Given the description of an element on the screen output the (x, y) to click on. 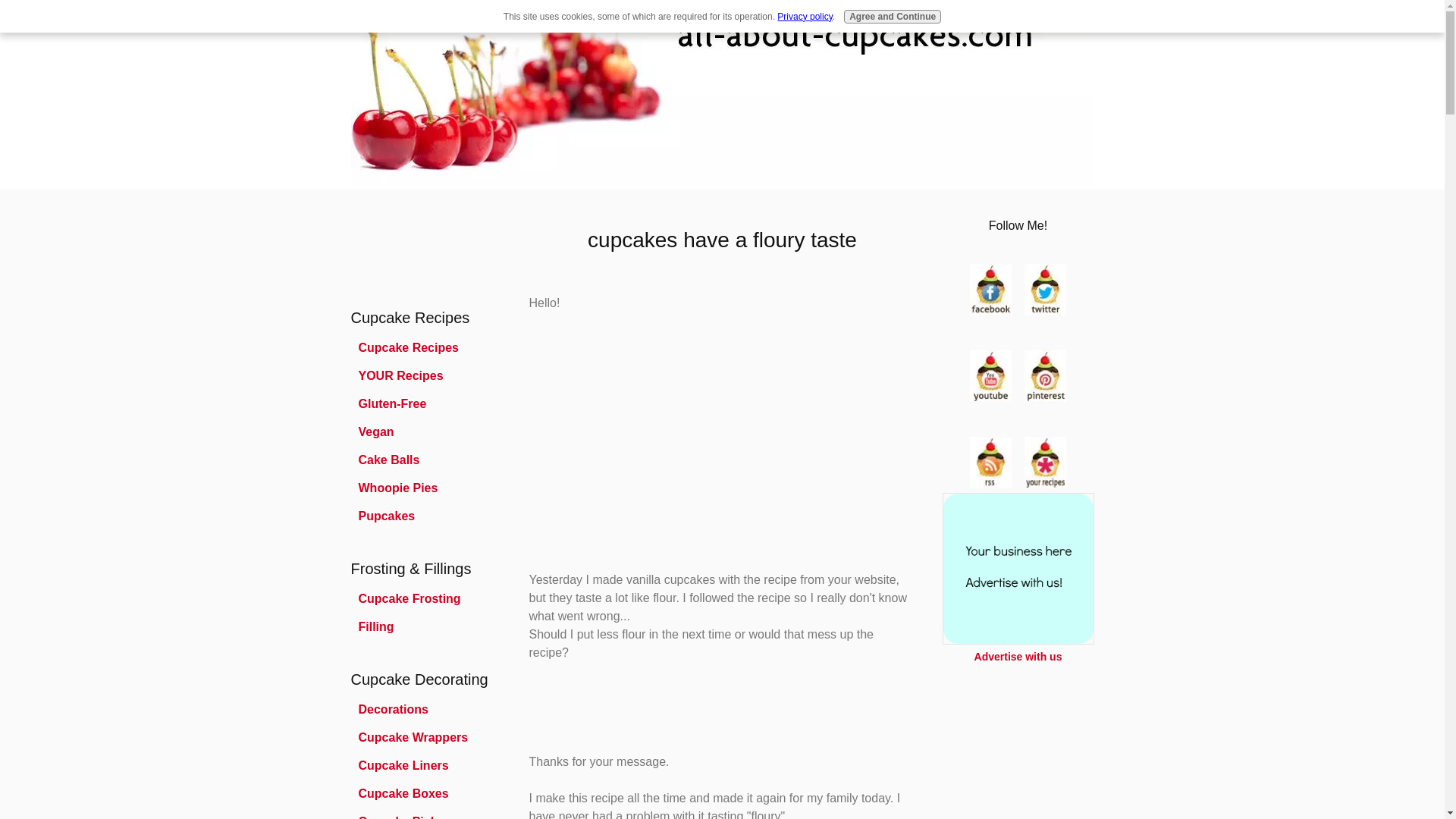
Cupcake Boxes (426, 793)
Cupcake Picks (426, 814)
Whoopie Pies (426, 488)
Advertise with us (1018, 656)
Cupcake Recipes (426, 347)
Advertisement (395, 246)
Decorations (426, 709)
Cake Balls (426, 460)
Vegan (426, 432)
Pupcakes (426, 516)
